Given the description of an element on the screen output the (x, y) to click on. 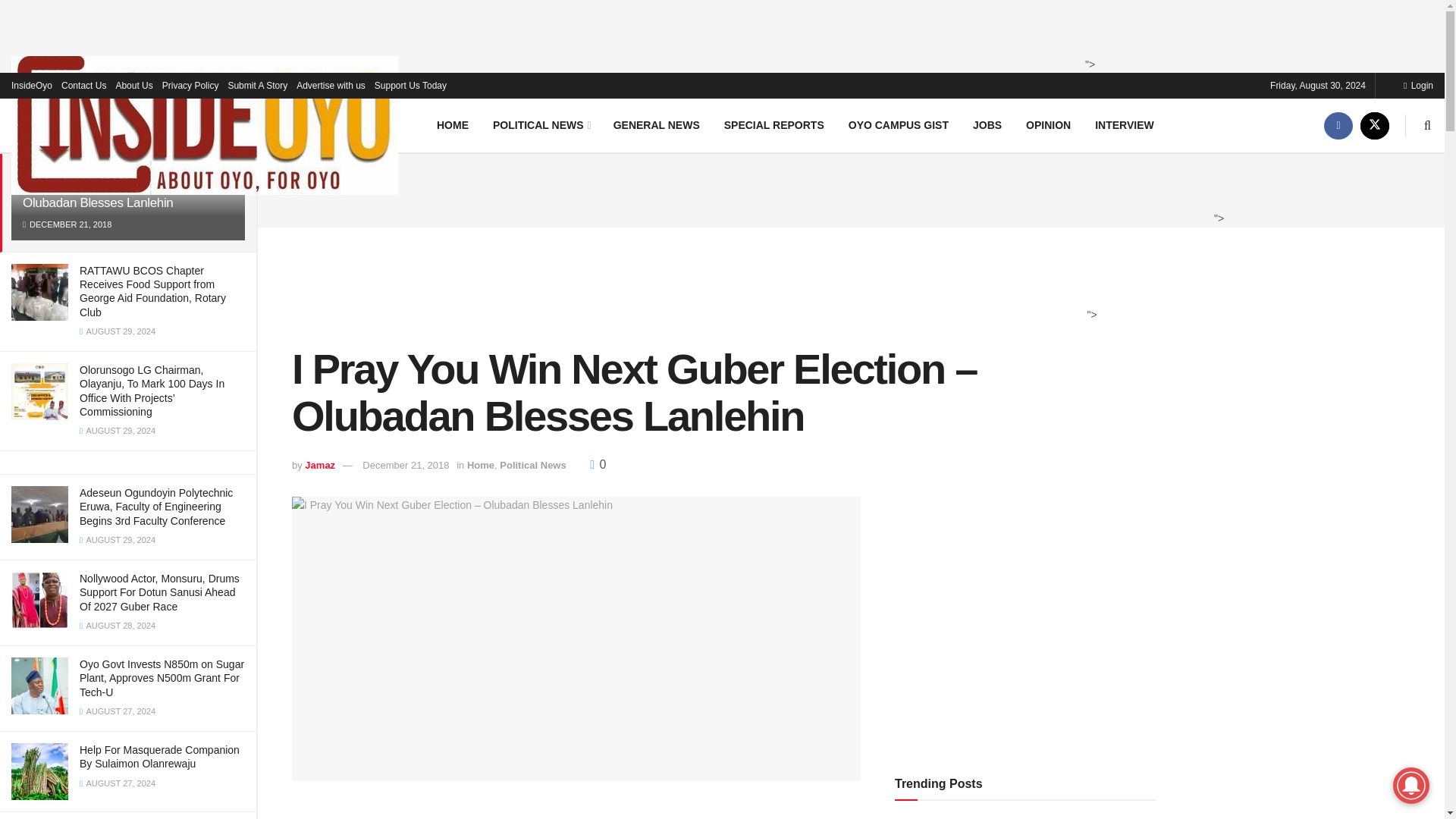
Filter (227, 96)
HOME (452, 125)
Support Us Today (410, 85)
Contact Us (83, 85)
Advertise with us (331, 85)
Login (1417, 85)
Advertisement (716, 33)
Advertisement (718, 284)
InsideOyo (31, 85)
